Given the description of an element on the screen output the (x, y) to click on. 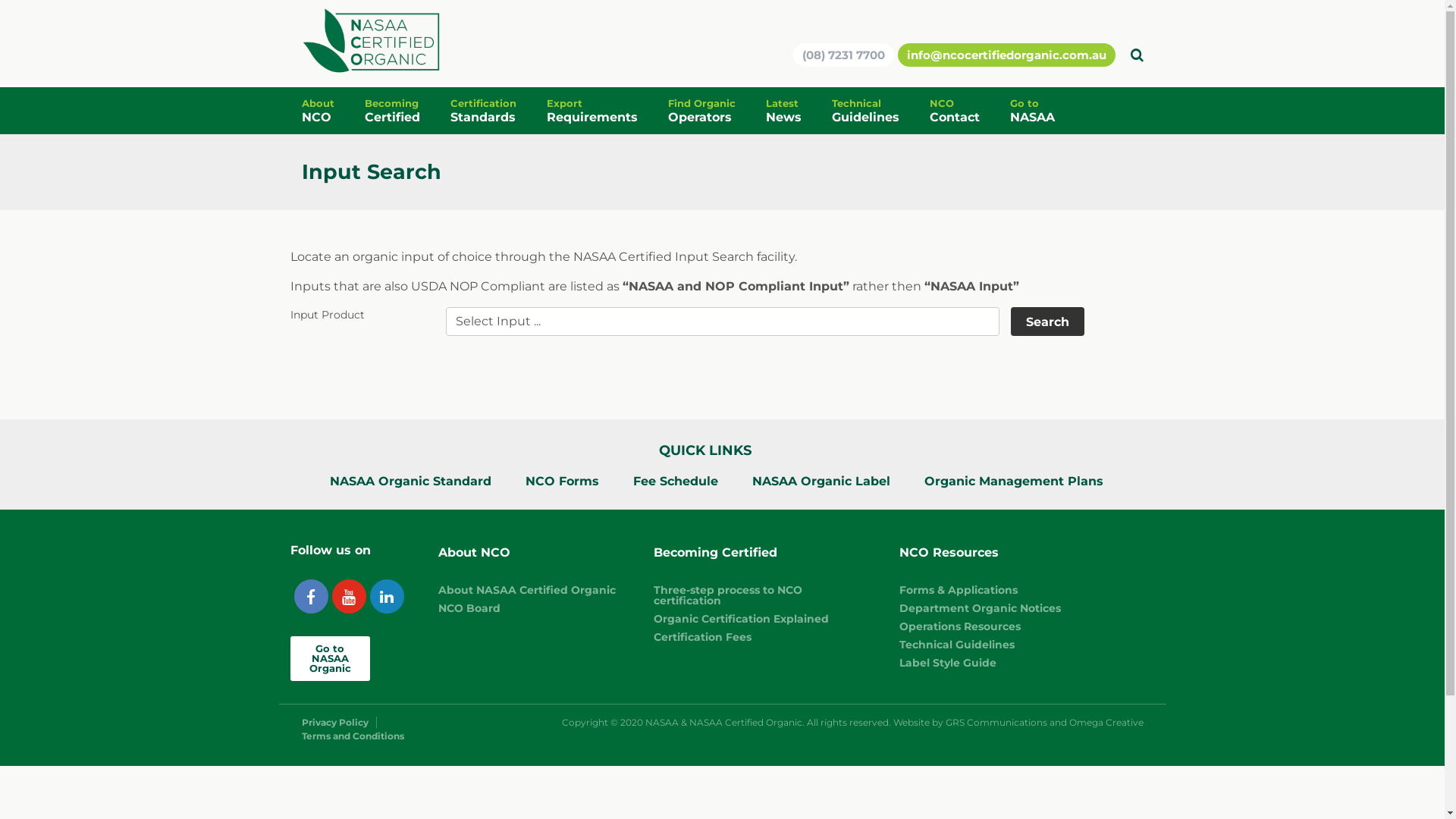
Organic Management Plans Element type: text (1013, 480)
Operations Resources Element type: text (959, 626)
Certification
Standards Element type: text (498, 110)
Certification Fees Element type: text (702, 636)
Technical
Guidelines Element type: text (879, 110)
Go to
NASAA Element type: text (1047, 110)
NASAA Organic Label Element type: text (821, 480)
Becoming
Certified Element type: text (406, 110)
Label Style Guide Element type: text (947, 662)
NCO Forms Element type: text (562, 480)
About NASAA Certified Organic Element type: text (526, 589)
Becoming Certified Element type: text (757, 552)
About NCO Element type: text (526, 552)
NCO
Contact Element type: text (969, 110)
Latest
News Element type: text (798, 110)
About
NCO Element type: text (332, 110)
Export
Requirements Element type: text (606, 110)
Home Element type: hover (372, 41)
Technical Guidelines Element type: text (956, 644)
NASAA Organic Standard Element type: text (410, 480)
Privacy Policy Element type: text (338, 722)
Fee Schedule Element type: text (675, 480)
Terms and Conditions Element type: text (352, 735)
Find Organic
Operators Element type: text (716, 110)
(08) 7231 7700 Element type: text (843, 54)
Organic Certification Explained Element type: text (740, 618)
Go to NASAA Organic Element type: text (329, 658)
Forms & Applications Element type: text (958, 589)
NCO Board Element type: text (469, 608)
Department Organic Notices Element type: text (979, 608)
info@ncocertifiedorganic.com.au Element type: text (1006, 54)
Search Element type: text (1046, 321)
Three-step process to NCO certification Element type: text (727, 595)
NCO Resources Element type: text (979, 552)
